Given the description of an element on the screen output the (x, y) to click on. 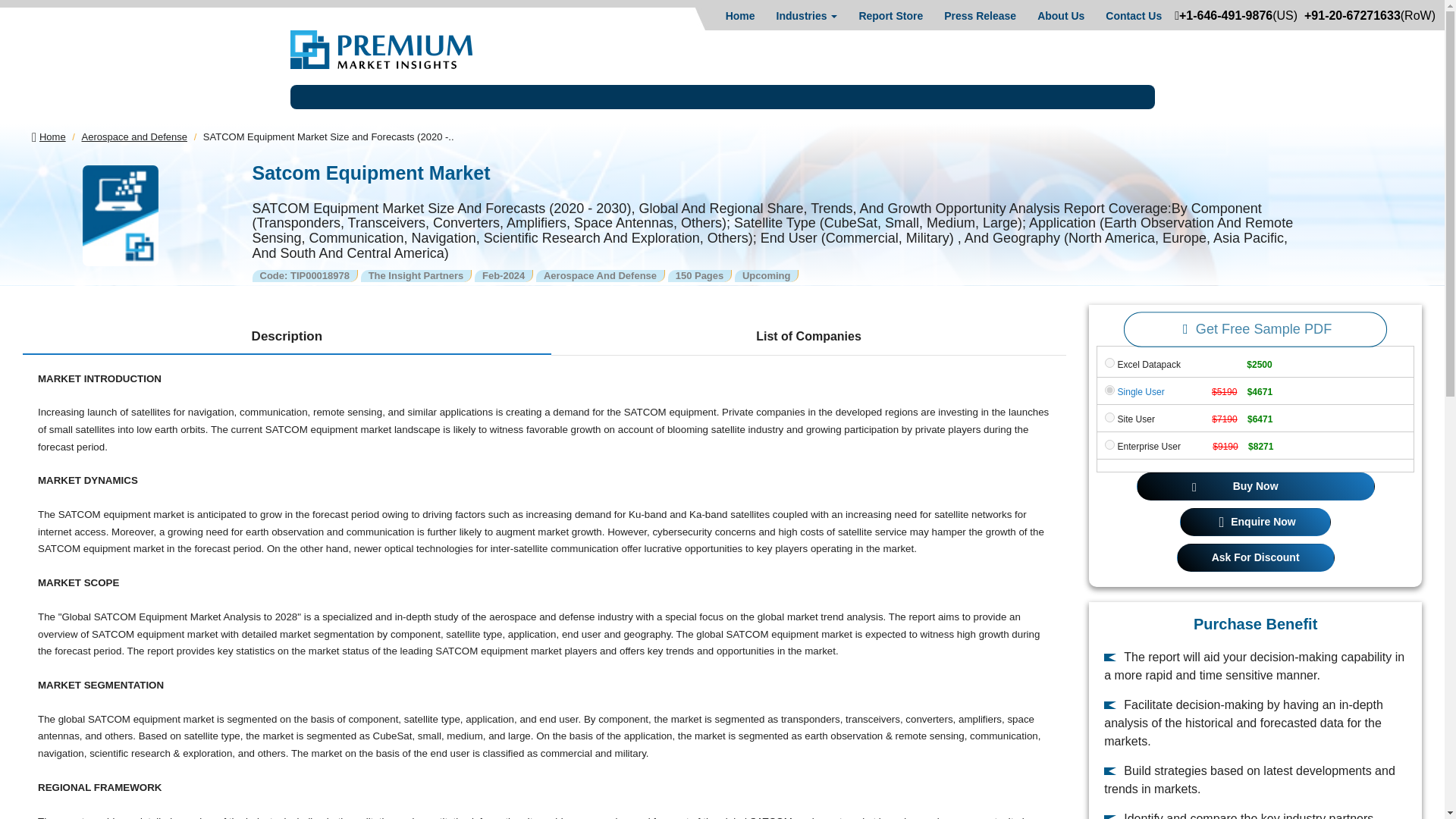
Report Store (891, 15)
Contact Us (1133, 15)
Home (740, 15)
Press Release (979, 15)
Logo (380, 48)
Buy Now (1255, 486)
About Us (1060, 15)
Industries (807, 15)
